Given the description of an element on the screen output the (x, y) to click on. 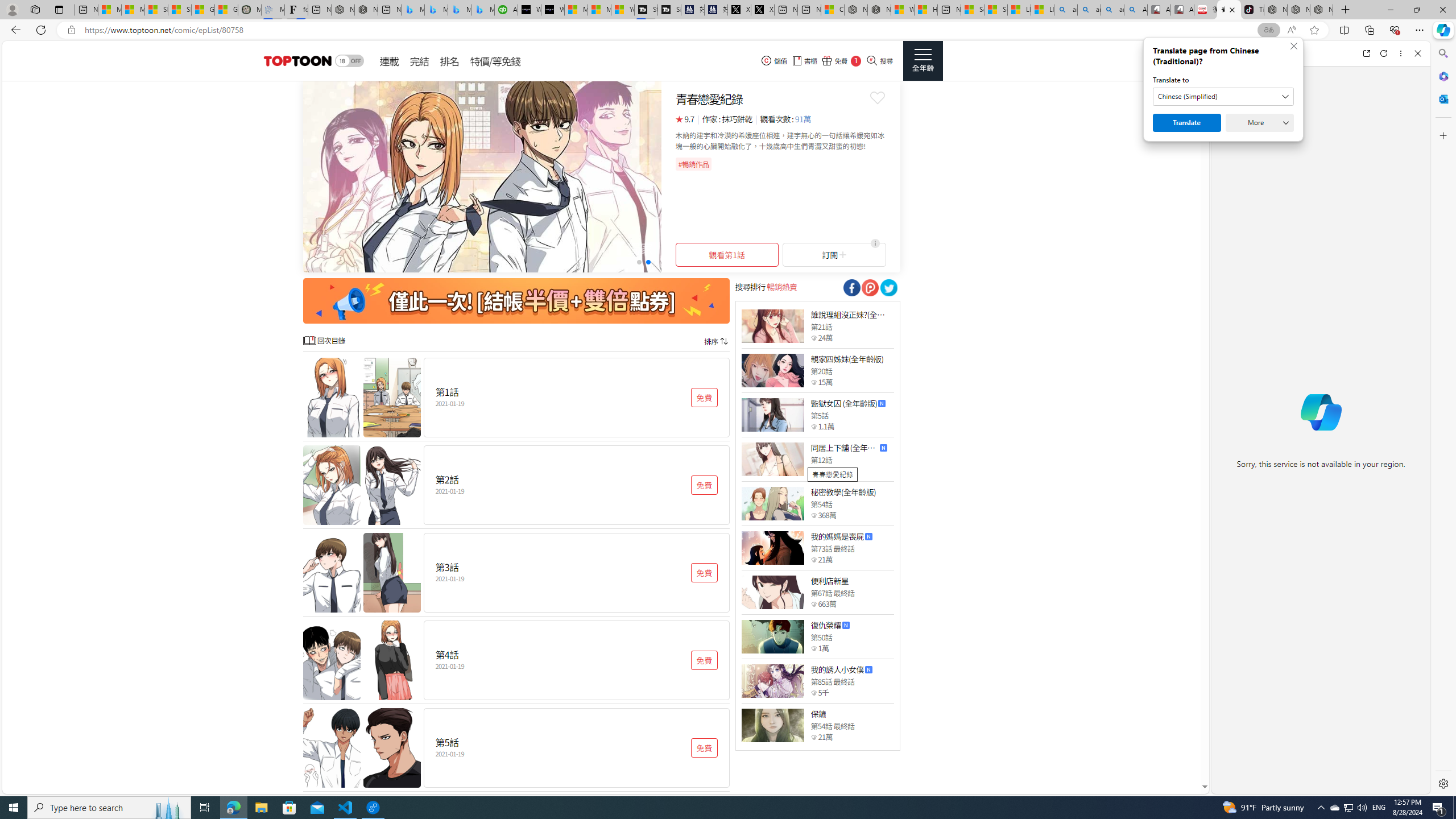
Nordace - Best Sellers (1275, 9)
Customize (1442, 135)
Open link in new tab (1366, 53)
Chat (1231, 52)
